Given the description of an element on the screen output the (x, y) to click on. 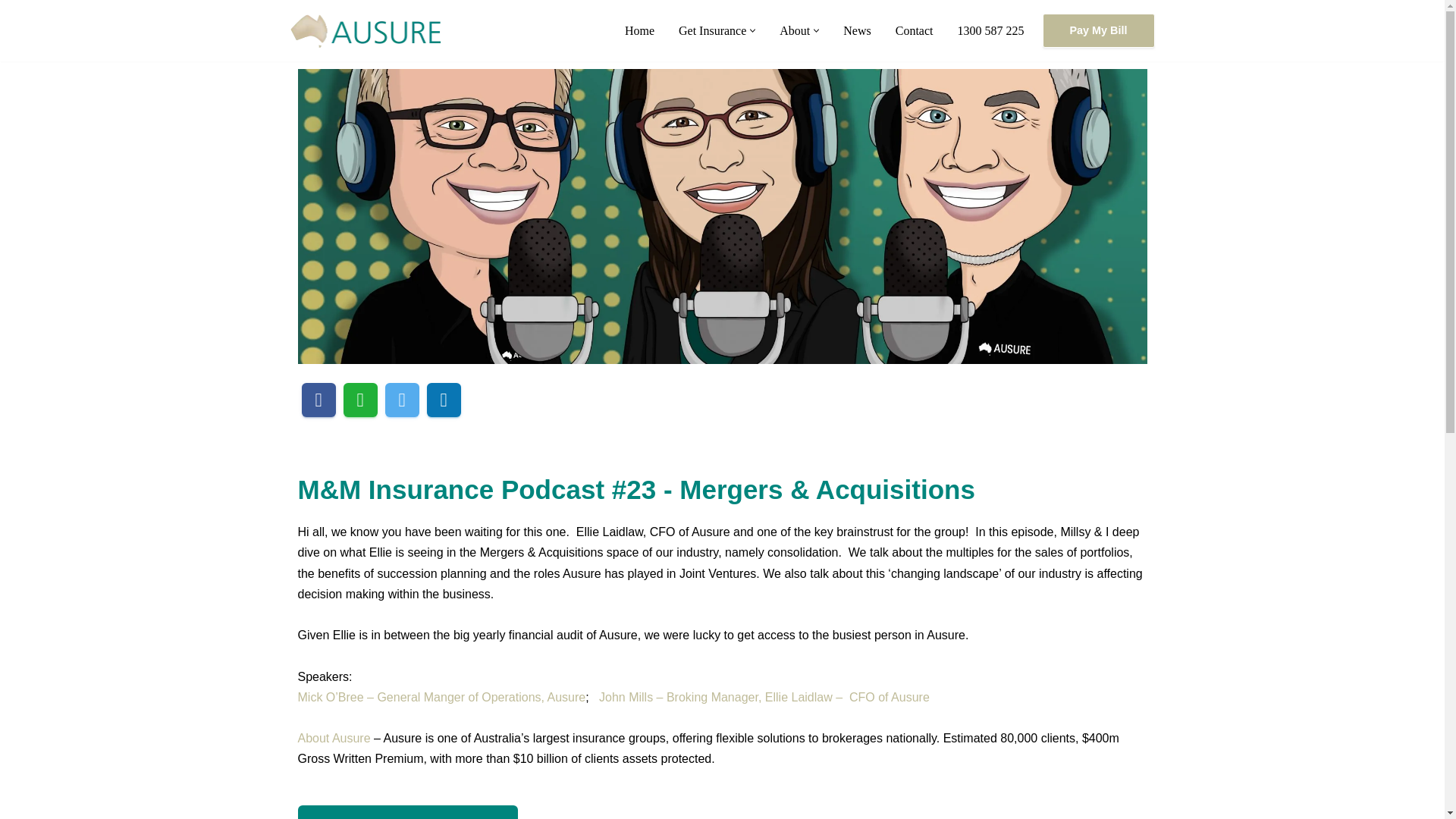
Contact (914, 30)
Skip to content (11, 31)
Pay My Bill (1098, 30)
News (856, 30)
Get Insurance (711, 30)
About (793, 30)
1300 587 225 (991, 30)
Home (638, 30)
